Given the description of an element on the screen output the (x, y) to click on. 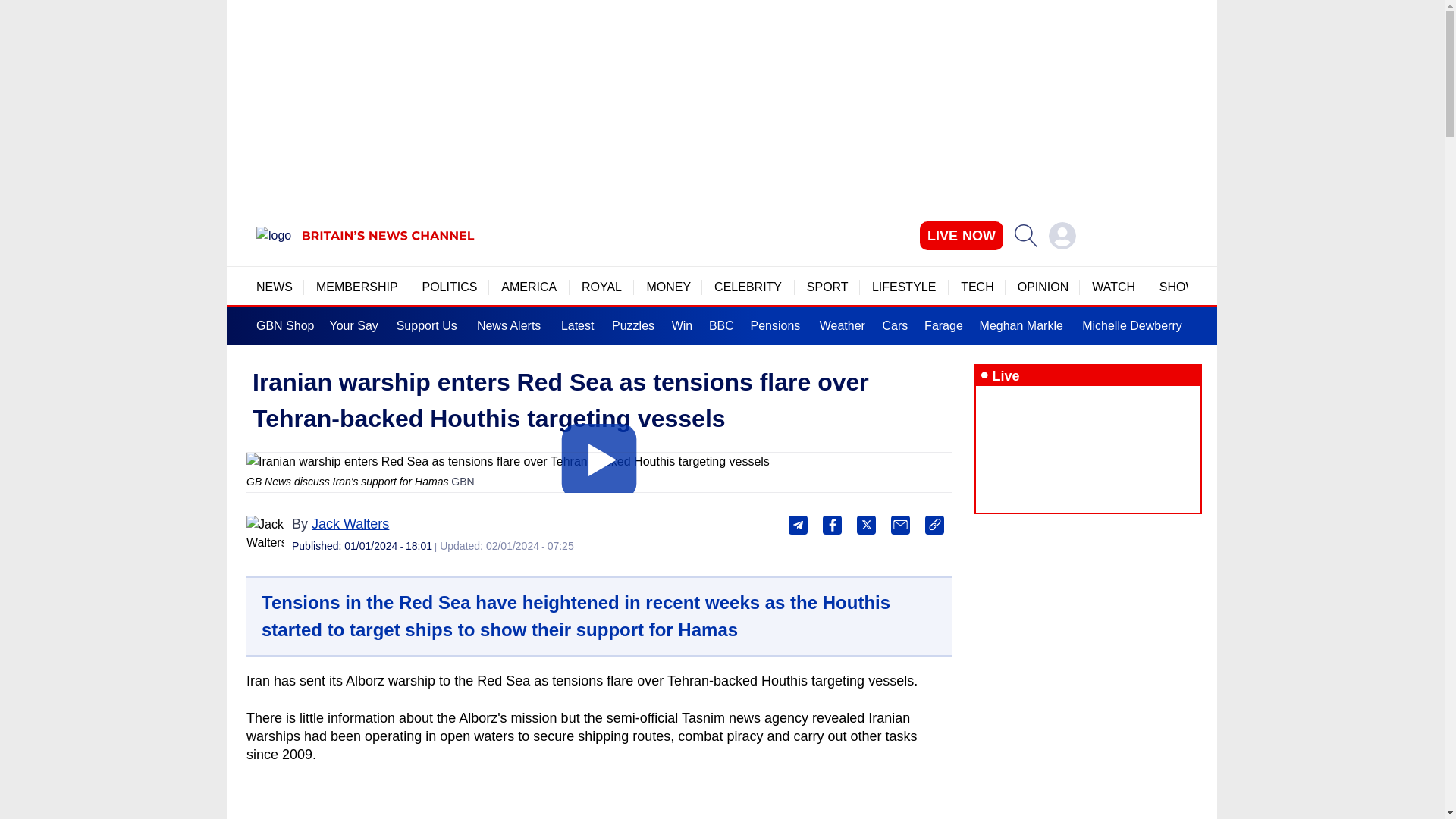
Jack Walters (349, 523)
POLITICS (449, 286)
AMERICA (528, 286)
Jack Walters (264, 534)
Search (1025, 235)
Copy this link to clipboard (933, 524)
NEWS (274, 286)
LIVE (961, 235)
MEMBERSHIP (356, 286)
GBN Britain's News Channel (273, 235)
